Given the description of an element on the screen output the (x, y) to click on. 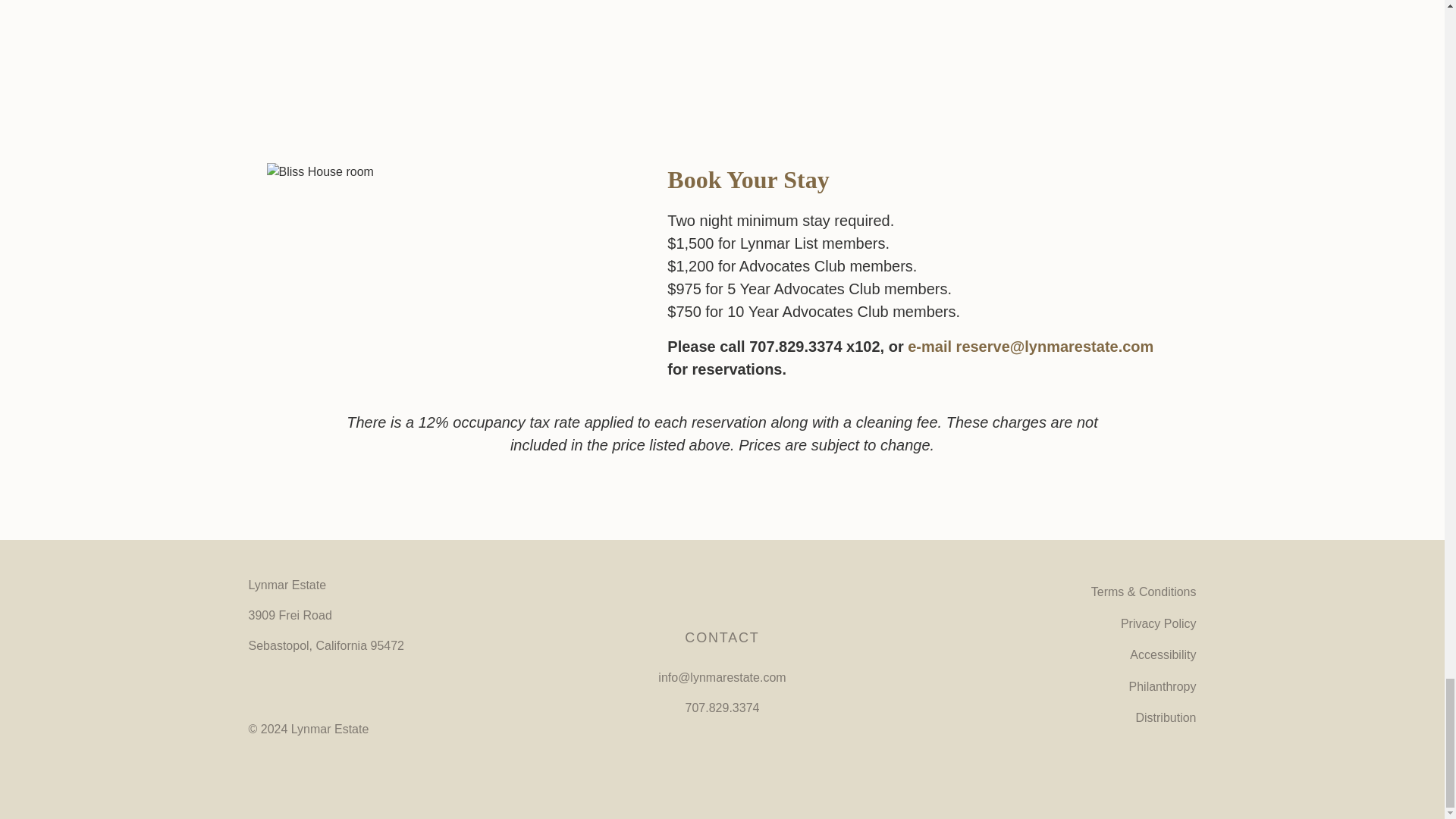
Philanthropy (1045, 686)
Facebook (260, 691)
Accessibility (1045, 654)
Instagram (300, 691)
Distribution (1045, 717)
Privacy Policy (1045, 623)
Lynmar Estate (721, 597)
CONTACT (721, 637)
